Given the description of an element on the screen output the (x, y) to click on. 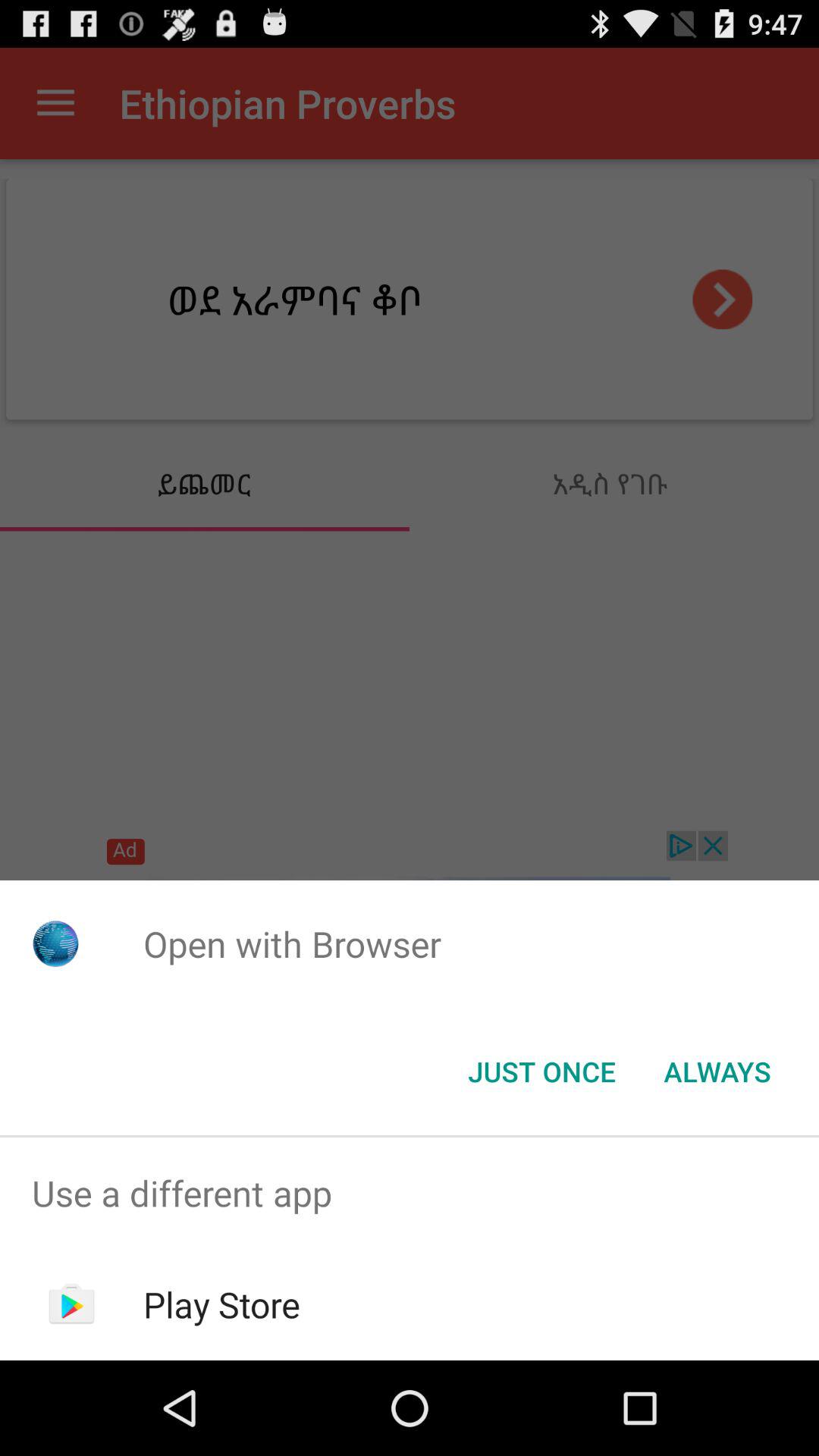
open button next to always icon (541, 1071)
